Given the description of an element on the screen output the (x, y) to click on. 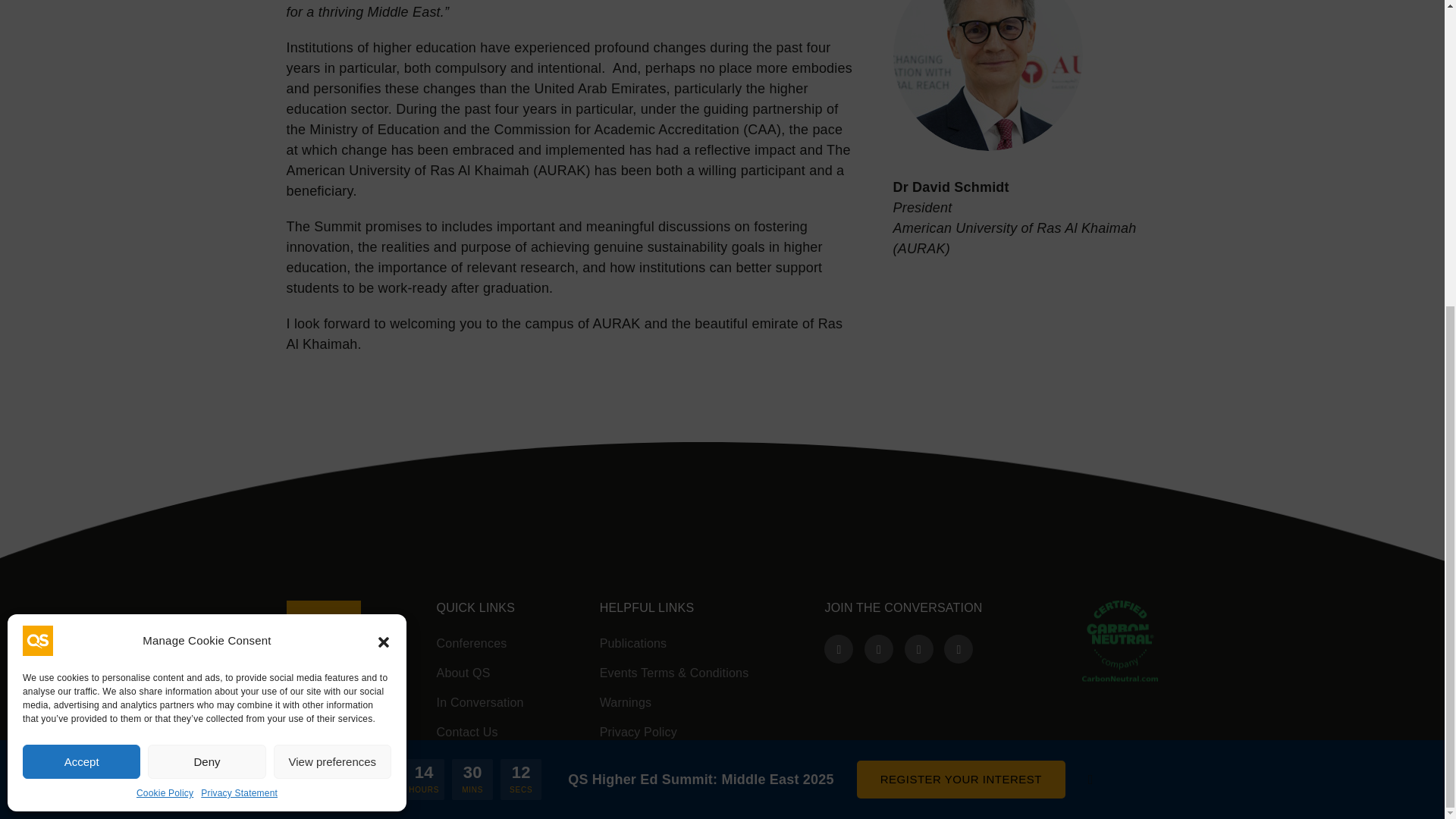
View preferences (332, 279)
Warnings (674, 702)
Dr. David Schmidt-- (988, 75)
Cookie Policy (164, 310)
Privacy Policy (674, 732)
Publications (674, 643)
In Conversation (480, 702)
About QS (480, 673)
Contact Us (480, 732)
Privacy Statement (239, 310)
Deny (206, 279)
Conferences (480, 643)
Accept (81, 279)
